Given the description of an element on the screen output the (x, y) to click on. 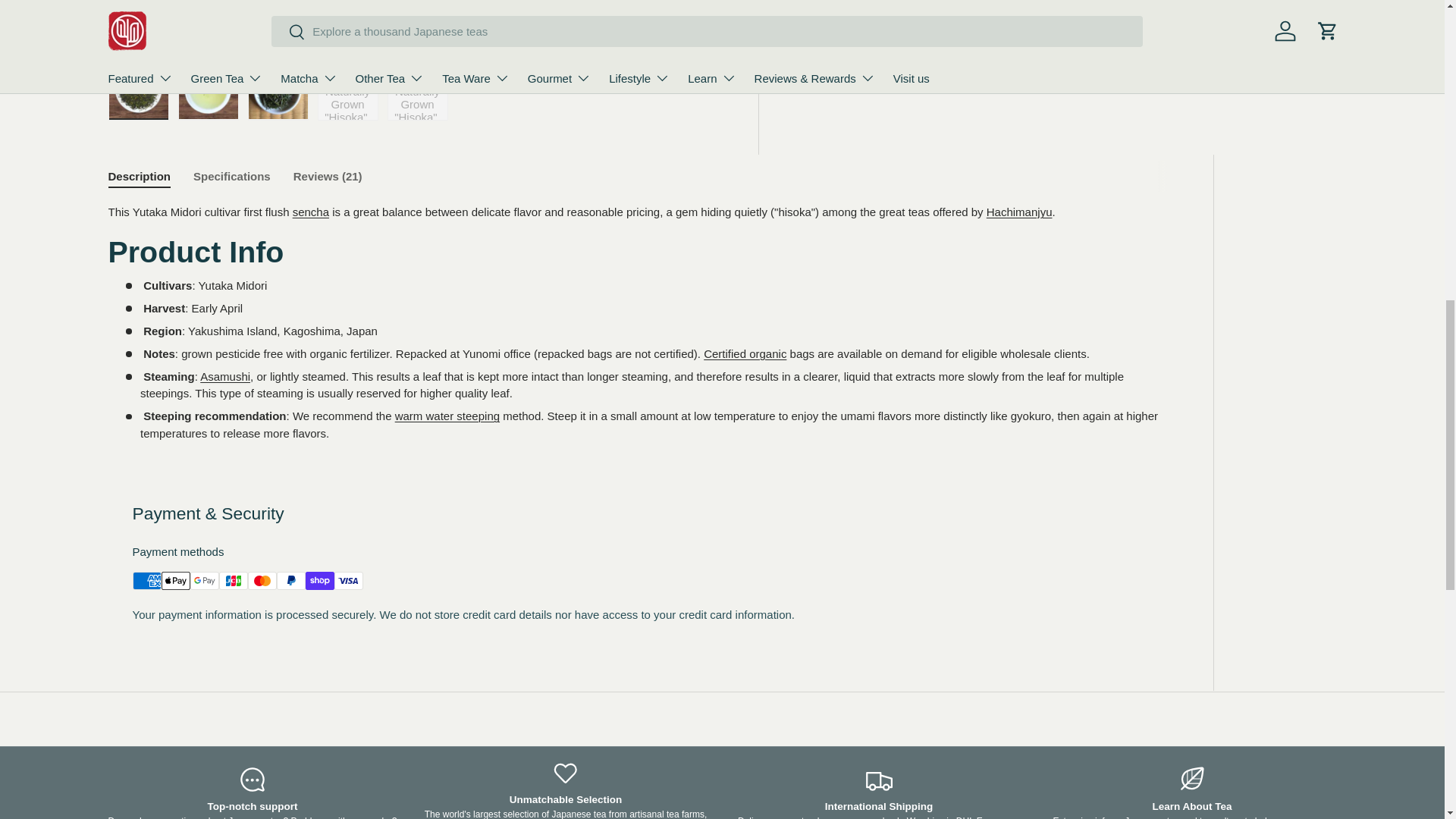
Professional's Guide to Japanese Tea (1151, 817)
All About Japanese Tea Culture (1220, 817)
